Given the description of an element on the screen output the (x, y) to click on. 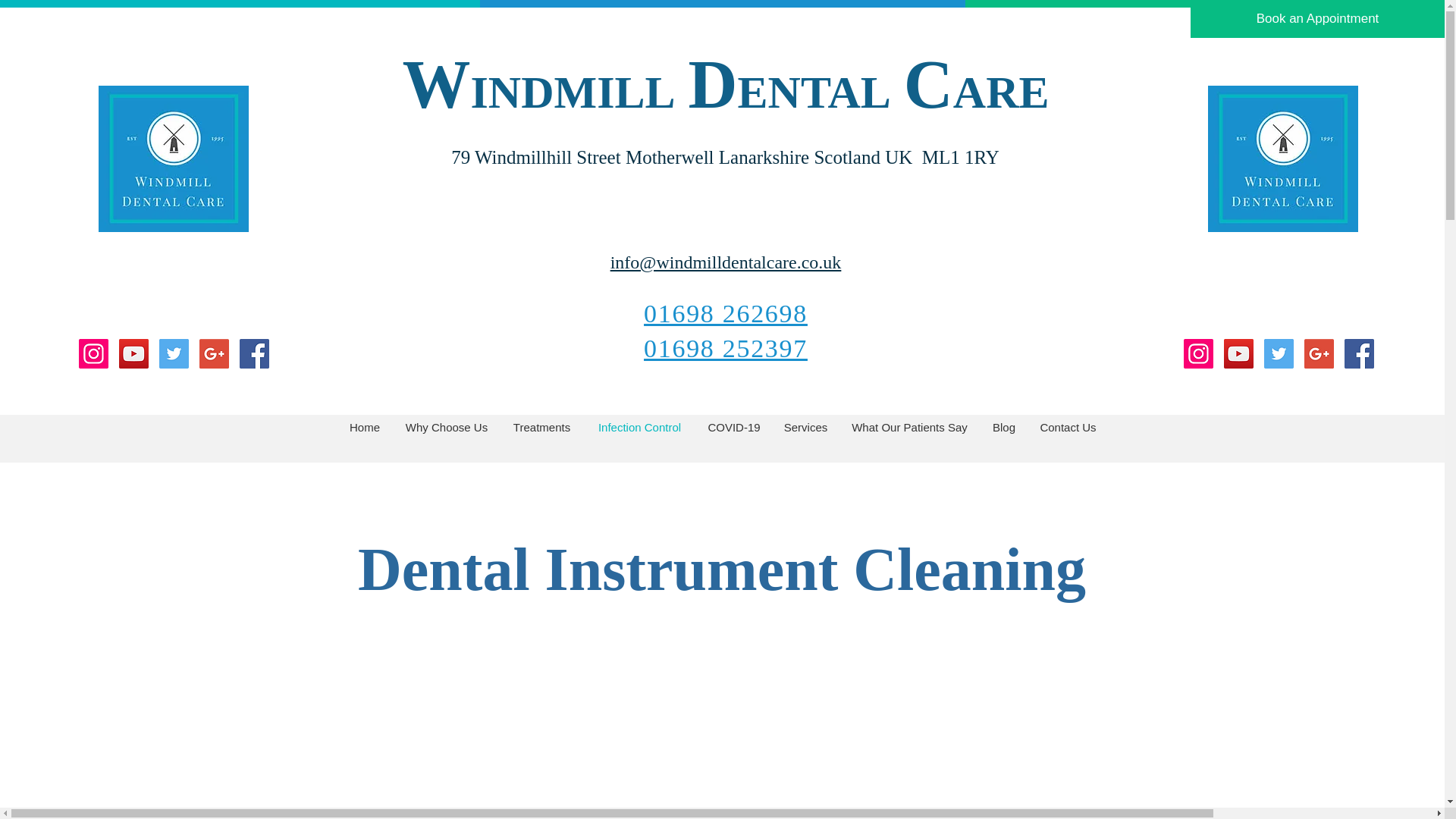
Why Choose Us (446, 426)
COVID-19 (734, 426)
01698 252397 (725, 347)
01698 262698 (725, 312)
Home (364, 426)
Treatments (541, 426)
Infection Control (639, 426)
INDMILL (572, 92)
W (435, 84)
Book an Appointment (1317, 18)
